Given the description of an element on the screen output the (x, y) to click on. 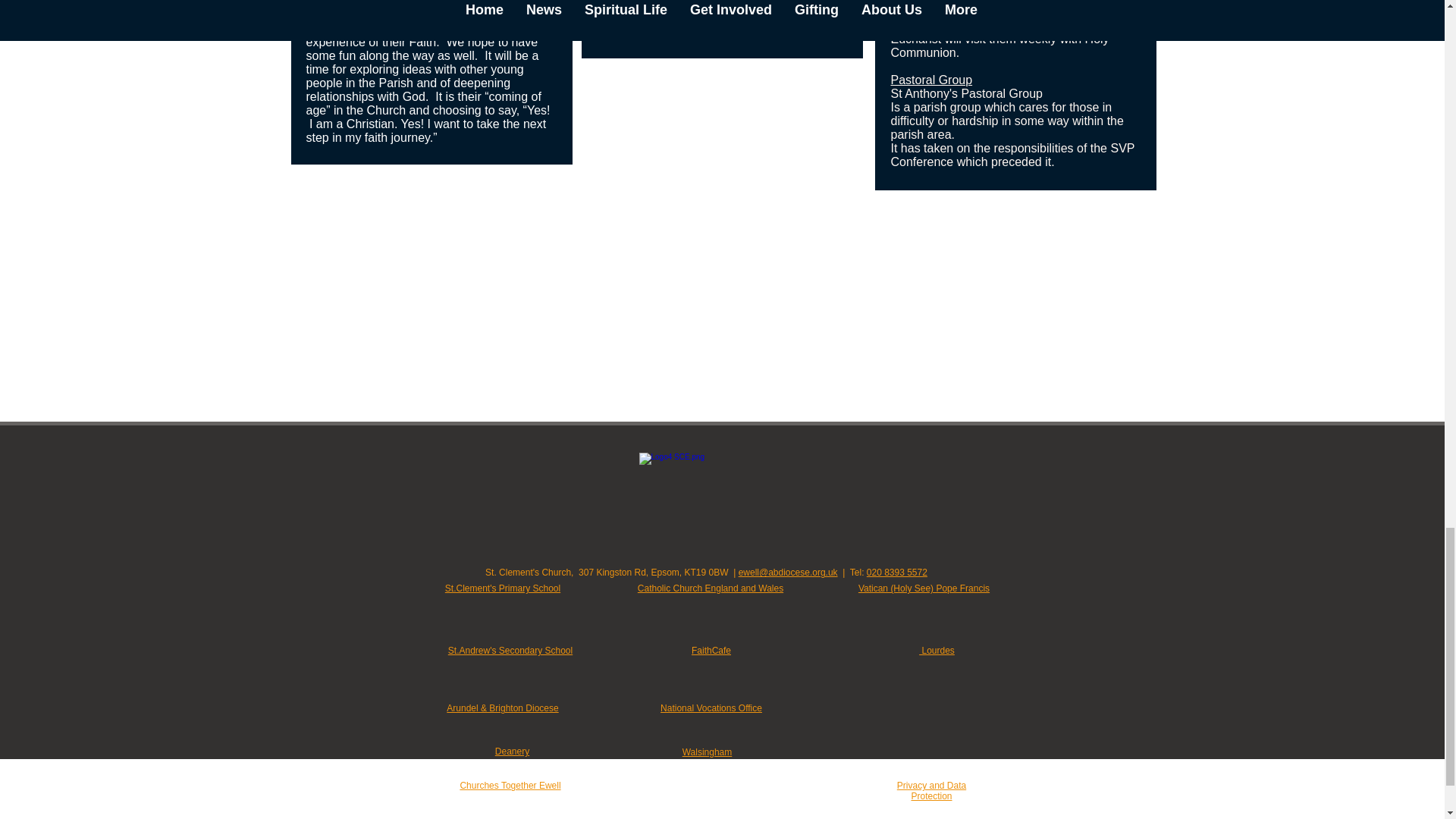
St.Andrew's Secondary School (510, 650)
FaithCafe (710, 650)
St.Clement's Primary School (502, 588)
Catholic Church England and Wales (710, 588)
Deanery (512, 751)
020 8393 5572 (896, 572)
